Given the description of an element on the screen output the (x, y) to click on. 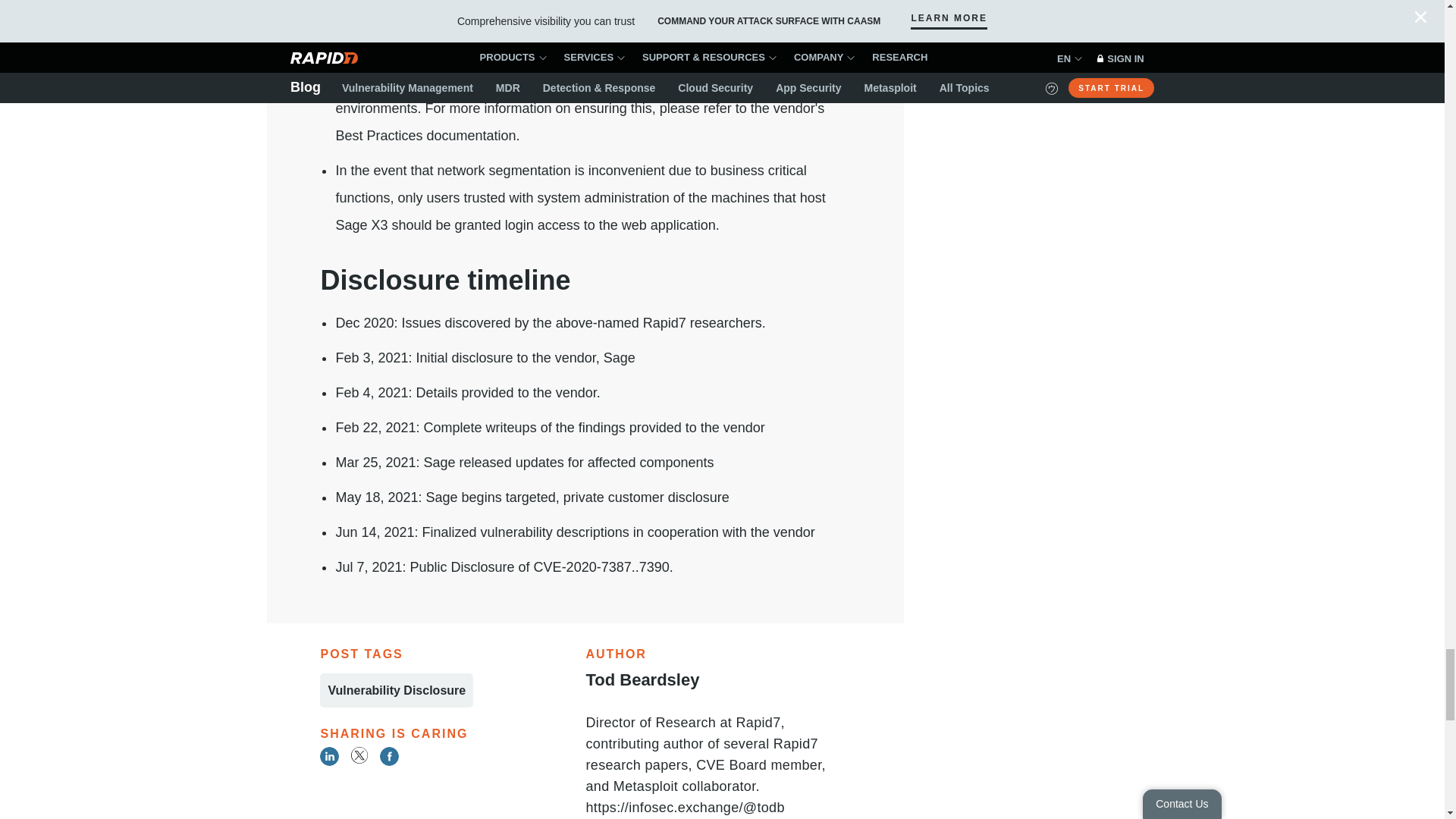
Vulnerability Disclosure (396, 690)
Tod Beardsley (641, 679)
